Given the description of an element on the screen output the (x, y) to click on. 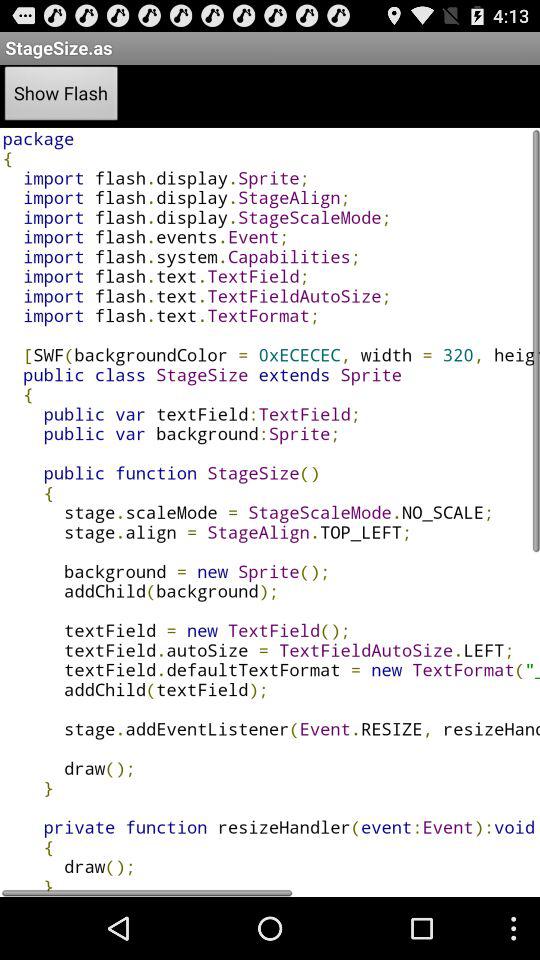
coding script (270, 512)
